Given the description of an element on the screen output the (x, y) to click on. 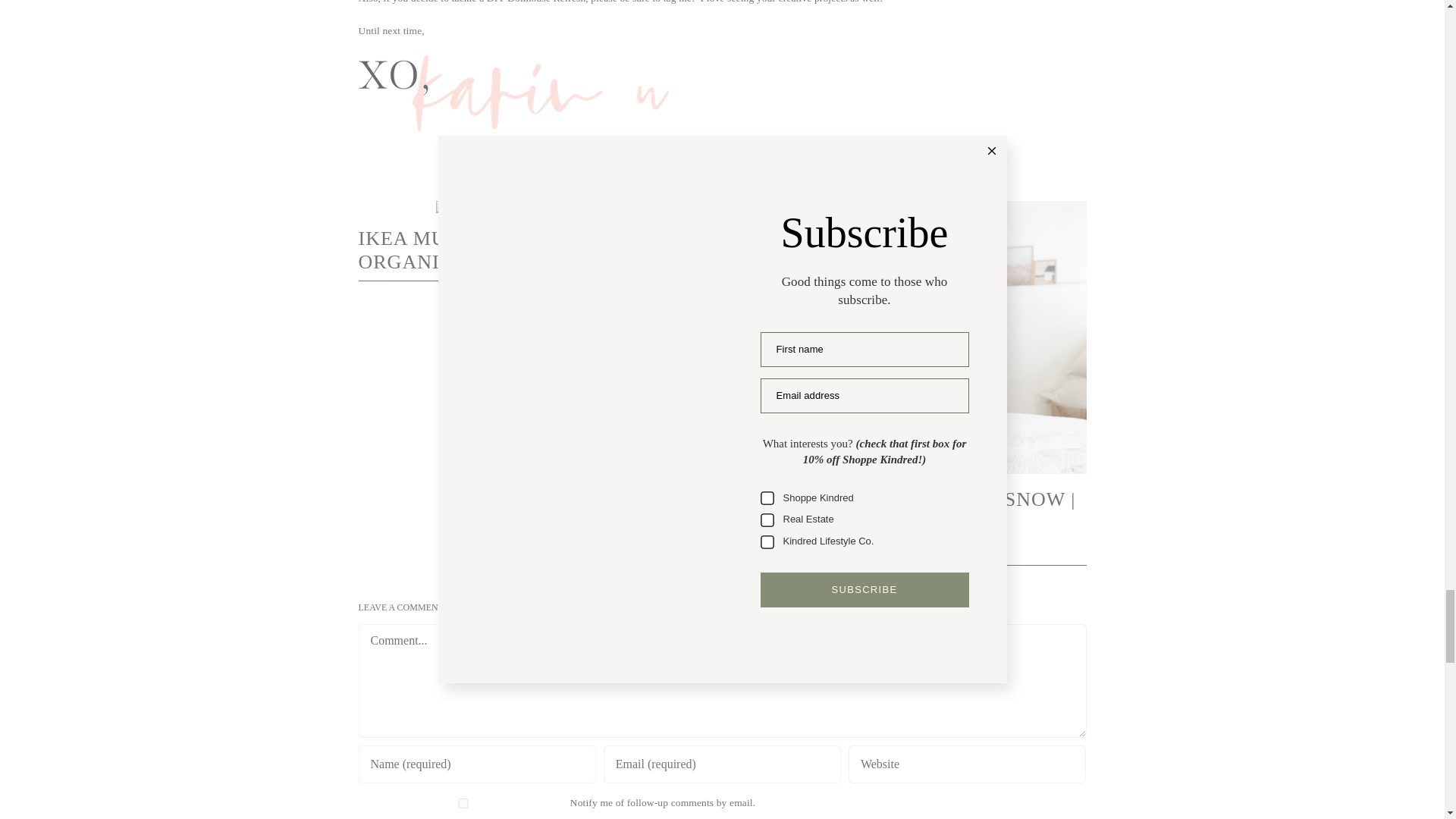
IKEA MUST HAVE ITEMS FOR HOME ORGANIZATION (535, 249)
subscribe (462, 803)
Ikea must have items for Home Organization (535, 249)
